Given the description of an element on the screen output the (x, y) to click on. 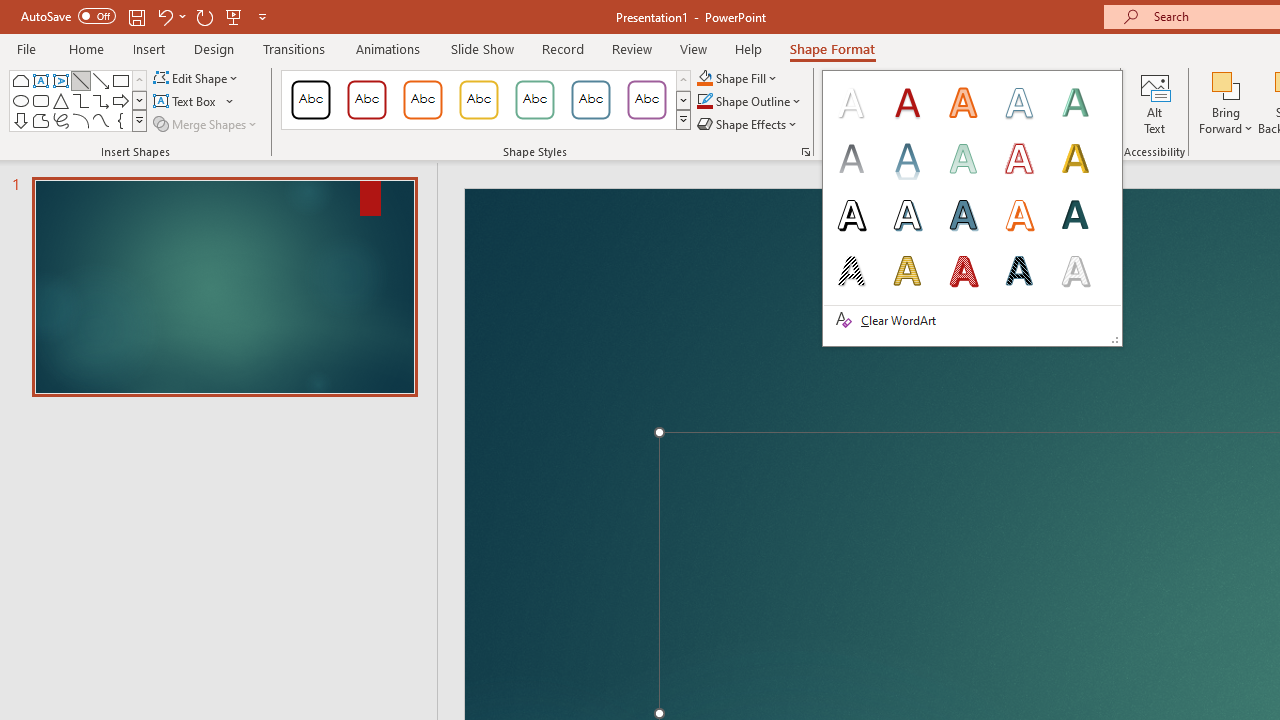
Colored Outline - Purple, Accent 6 (646, 100)
Shape Effects (748, 124)
Merge Shapes (206, 124)
